Given the description of an element on the screen output the (x, y) to click on. 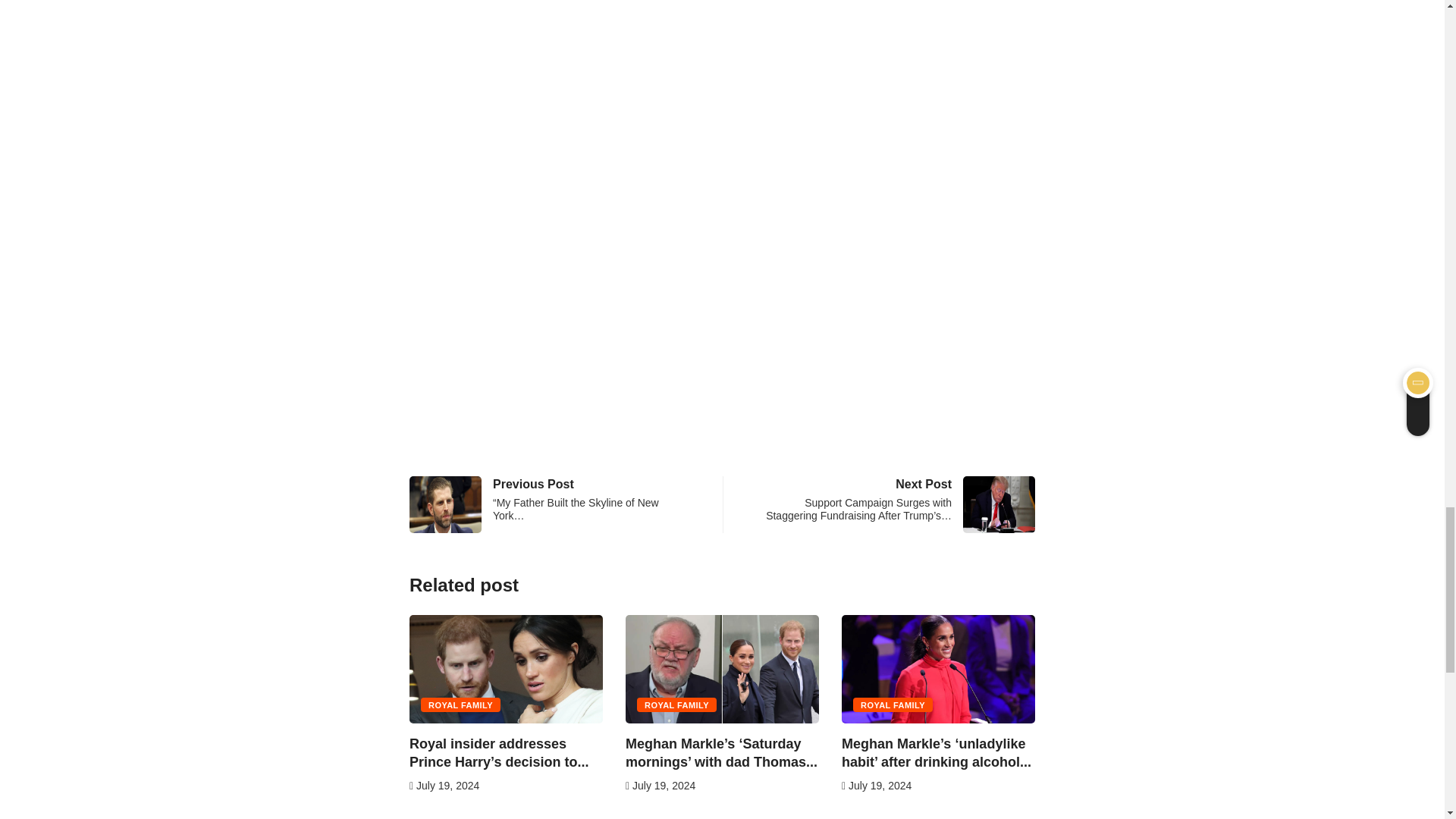
ROYAL FAMILY (460, 704)
